Given the description of an element on the screen output the (x, y) to click on. 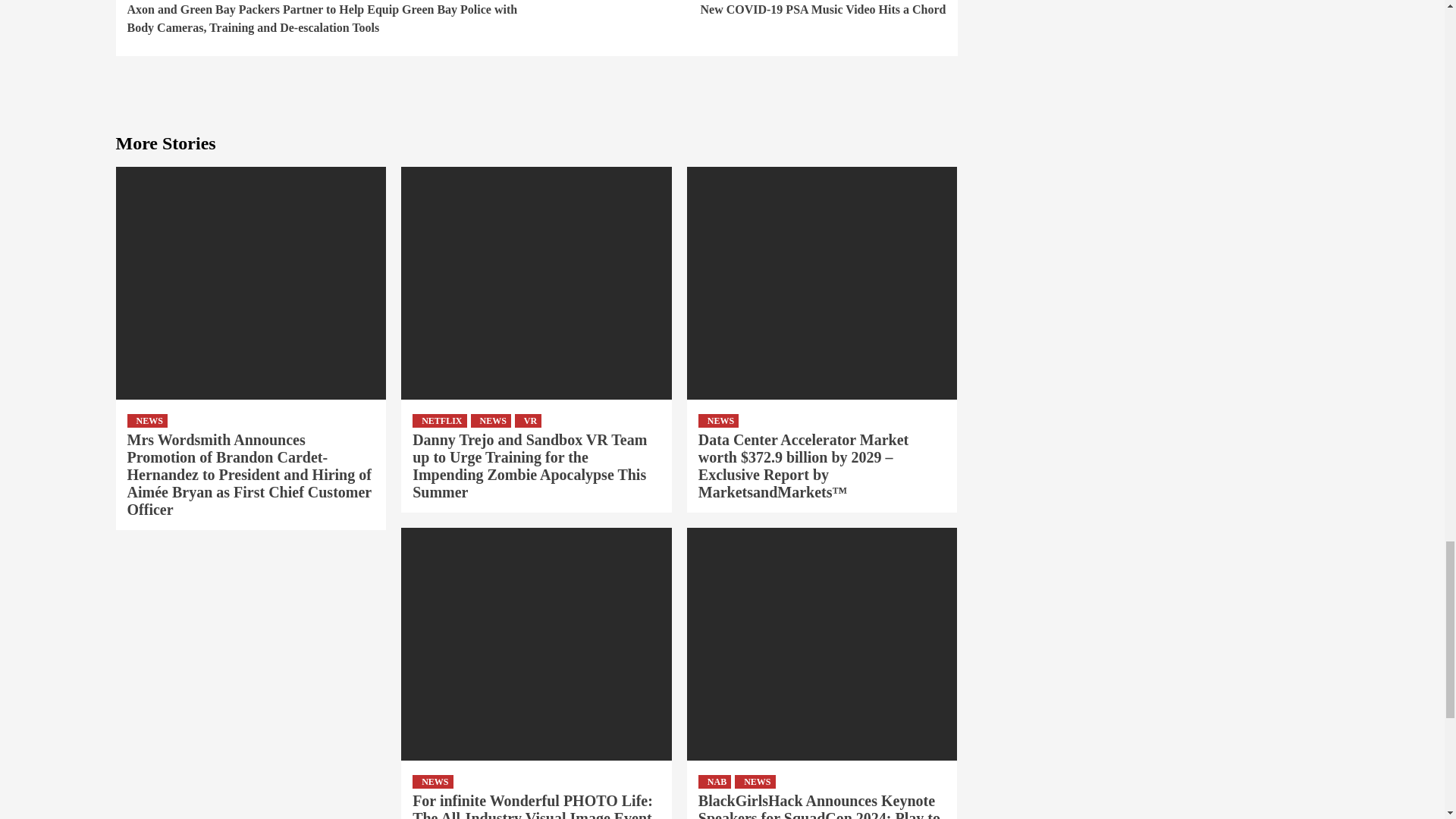
NEWS (490, 420)
NEWS (147, 420)
VR (741, 9)
NETFLIX (528, 420)
